Given the description of an element on the screen output the (x, y) to click on. 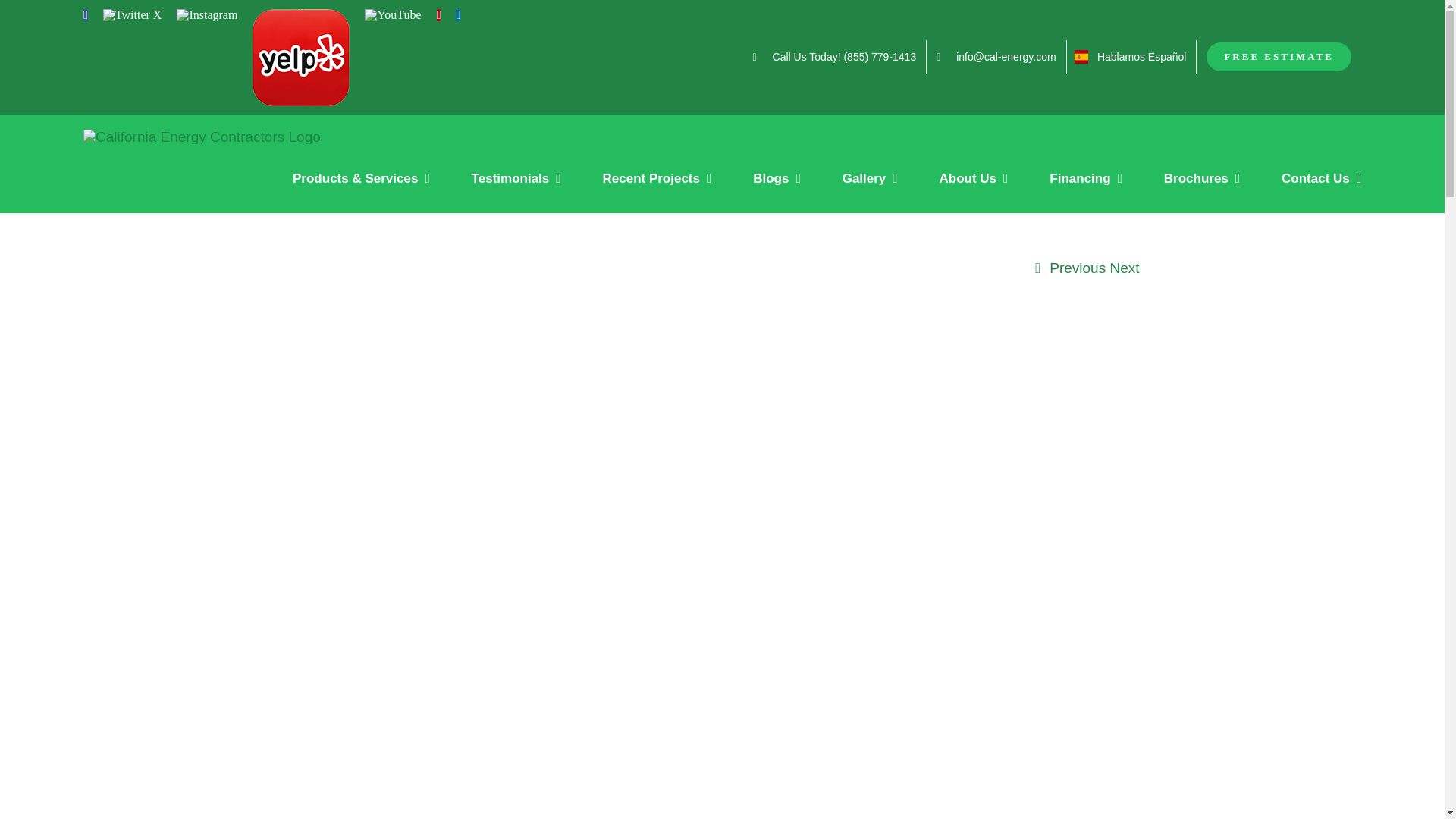
Twitter X (132, 15)
Yelp (300, 57)
Instagram (206, 15)
FREE ESTIMATE (1278, 56)
YouTube (392, 15)
Instagram (206, 15)
Yelp (300, 57)
Twitter X (132, 15)
YouTube (392, 15)
